Given the description of an element on the screen output the (x, y) to click on. 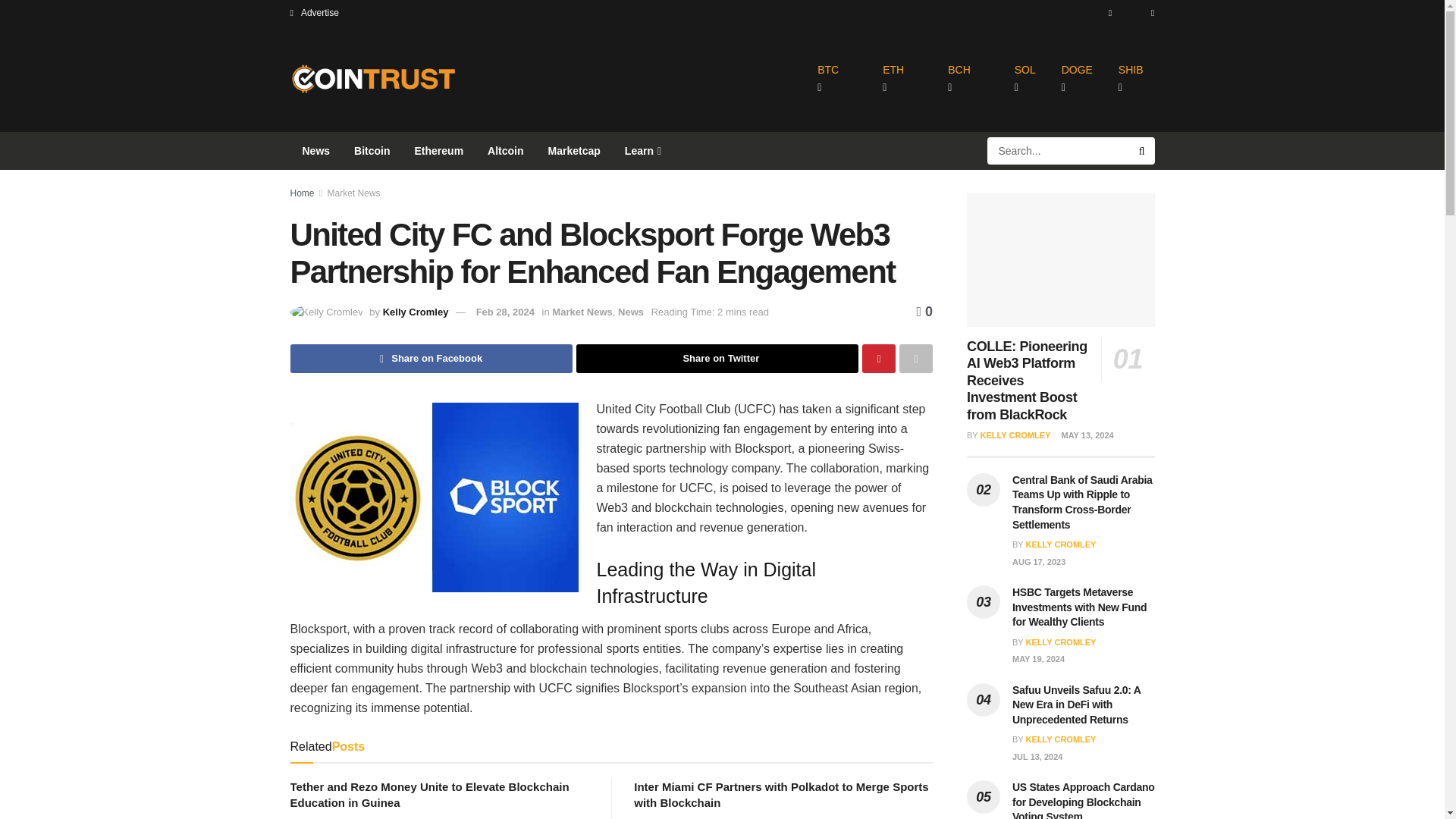
Advertise (313, 12)
News (315, 150)
Learn (641, 150)
Bitcoin (371, 150)
DOGE (1077, 79)
Altcoin (505, 150)
Ethereum (439, 150)
Marketcap (573, 150)
